Given the description of an element on the screen output the (x, y) to click on. 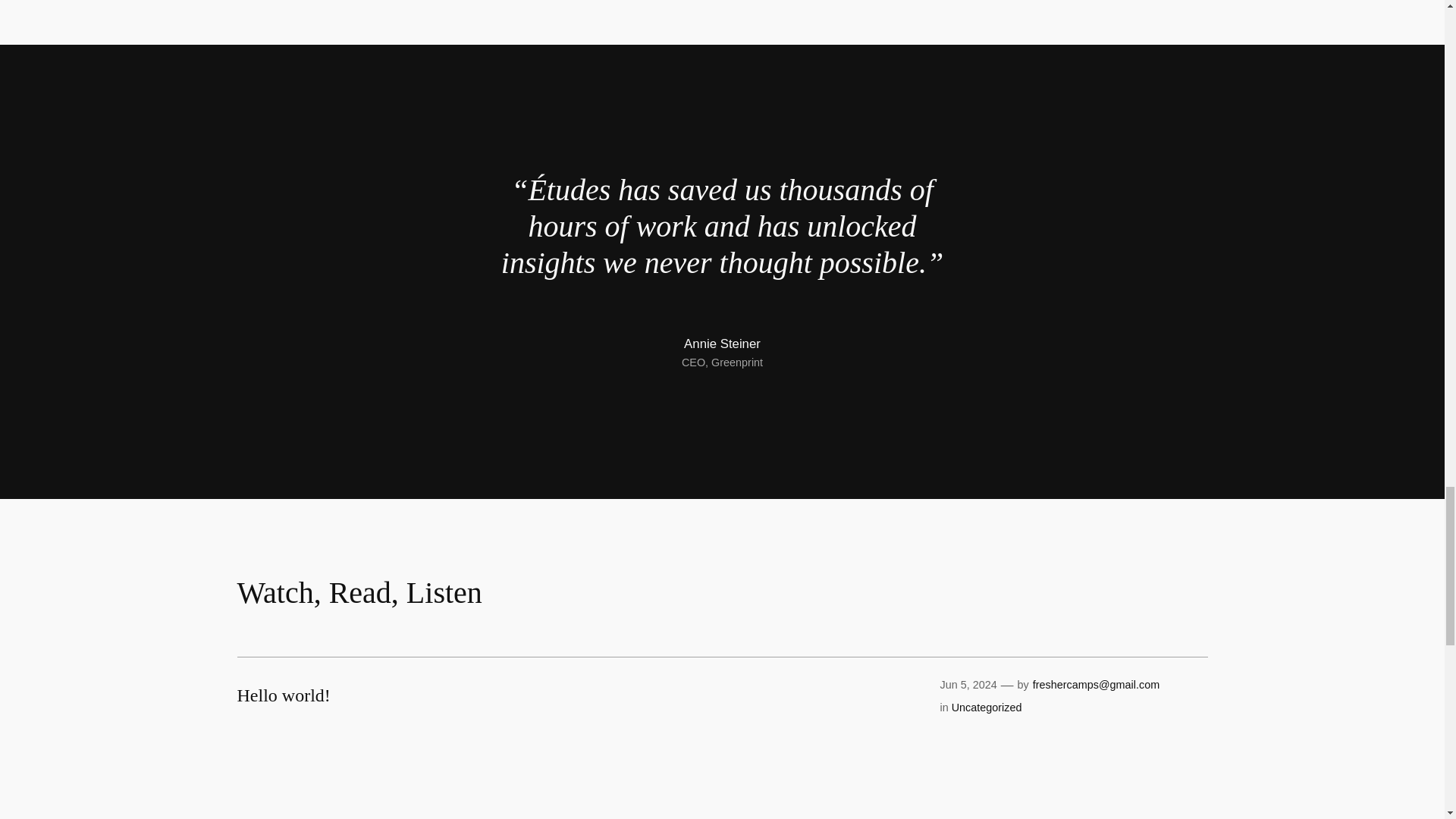
Hello world! (282, 695)
Jun 5, 2024 (967, 684)
Uncategorized (987, 707)
